Given the description of an element on the screen output the (x, y) to click on. 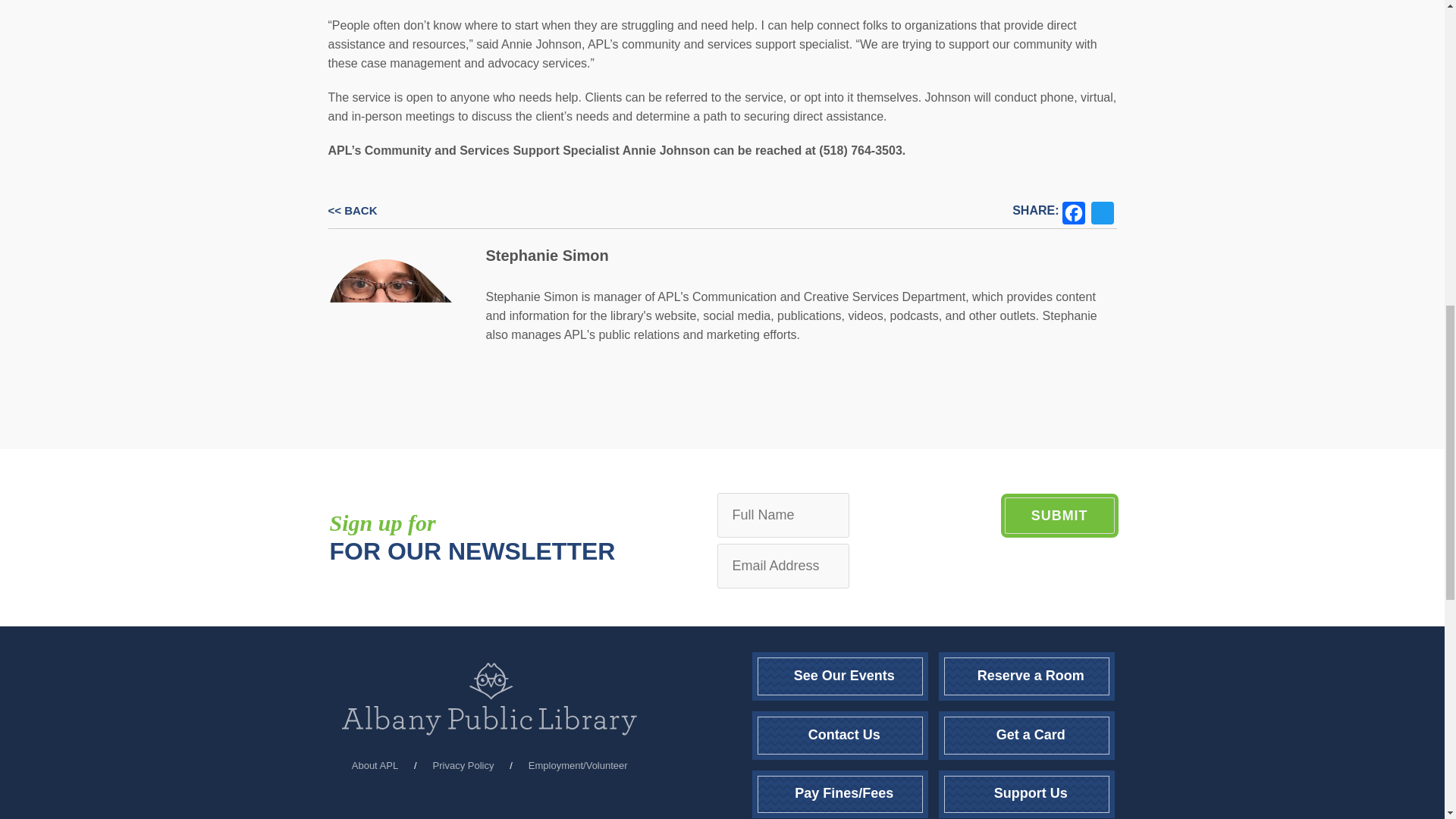
Twitter (1101, 211)
SUBMIT (1059, 515)
Facebook (1072, 211)
